Given the description of an element on the screen output the (x, y) to click on. 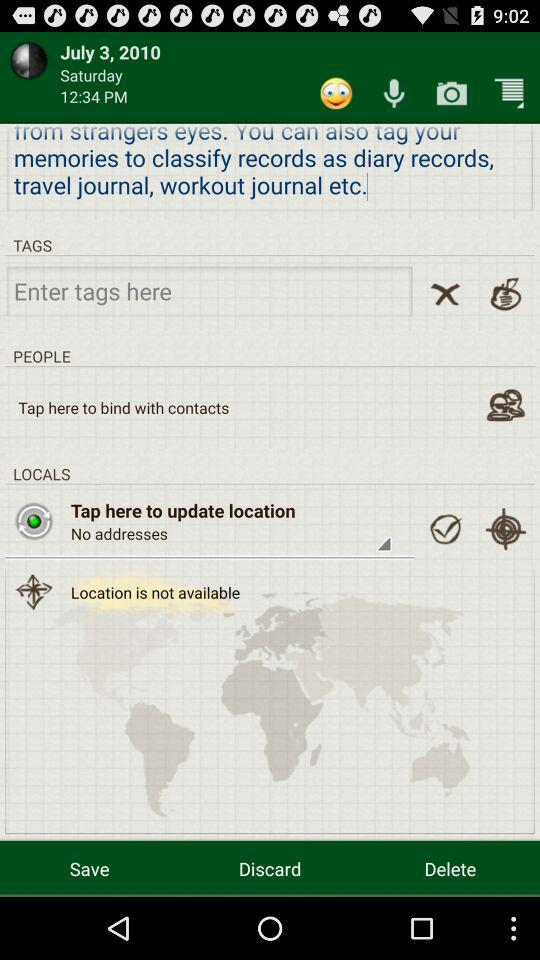
enter a tag (209, 290)
